Given the description of an element on the screen output the (x, y) to click on. 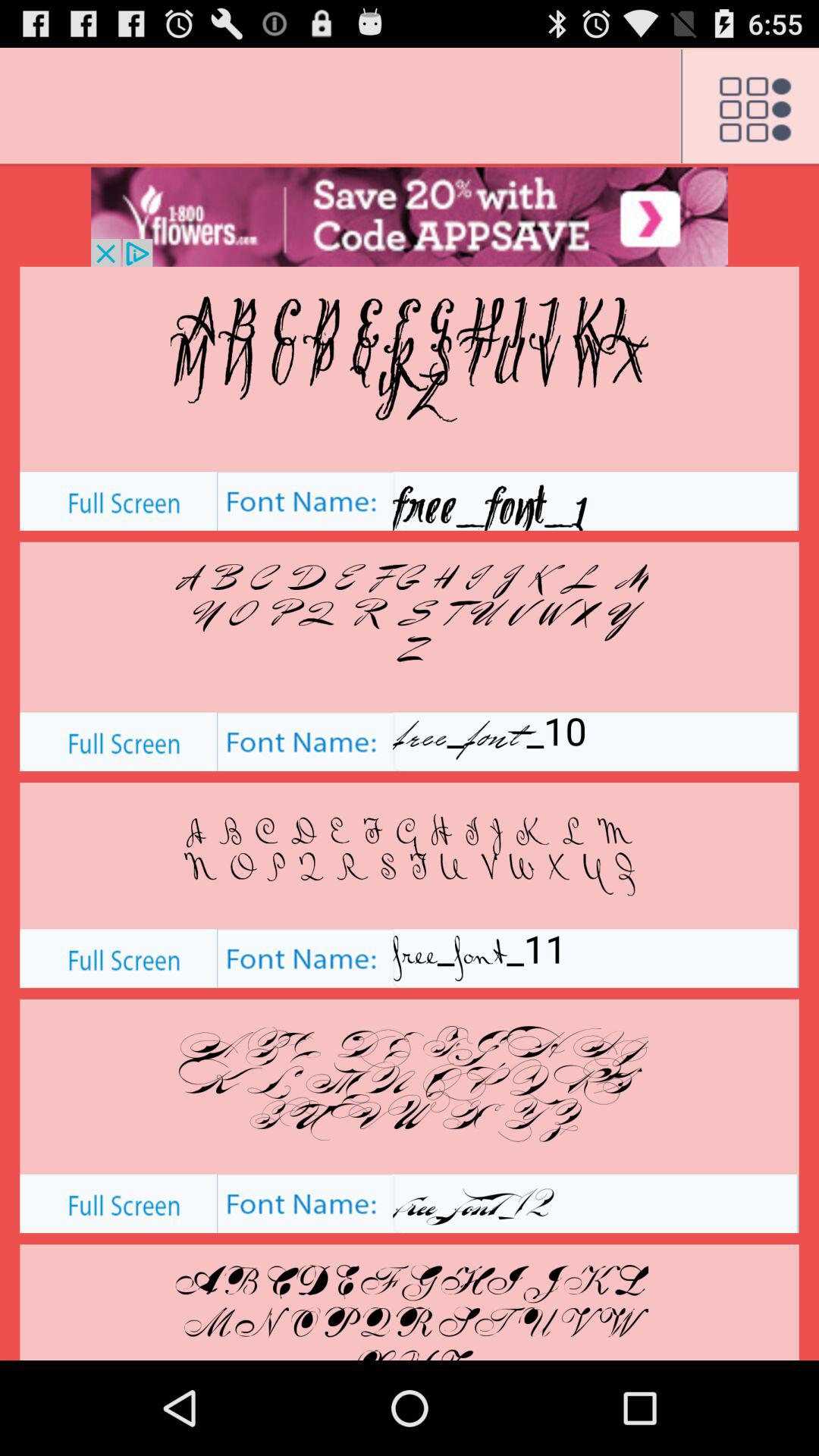
tools option (749, 106)
